Given the description of an element on the screen output the (x, y) to click on. 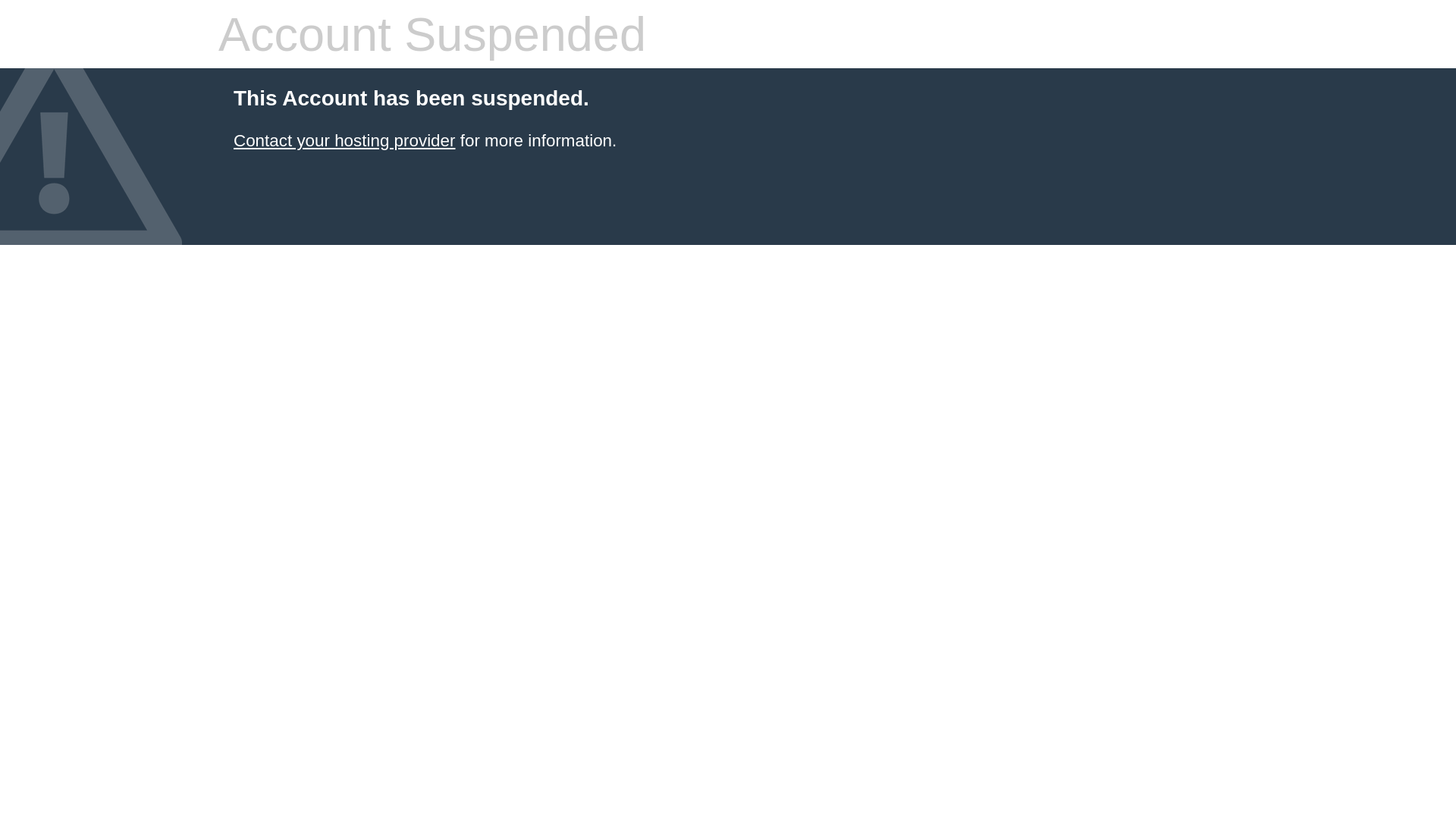
Contact your hosting provider Element type: text (344, 140)
